Given the description of an element on the screen output the (x, y) to click on. 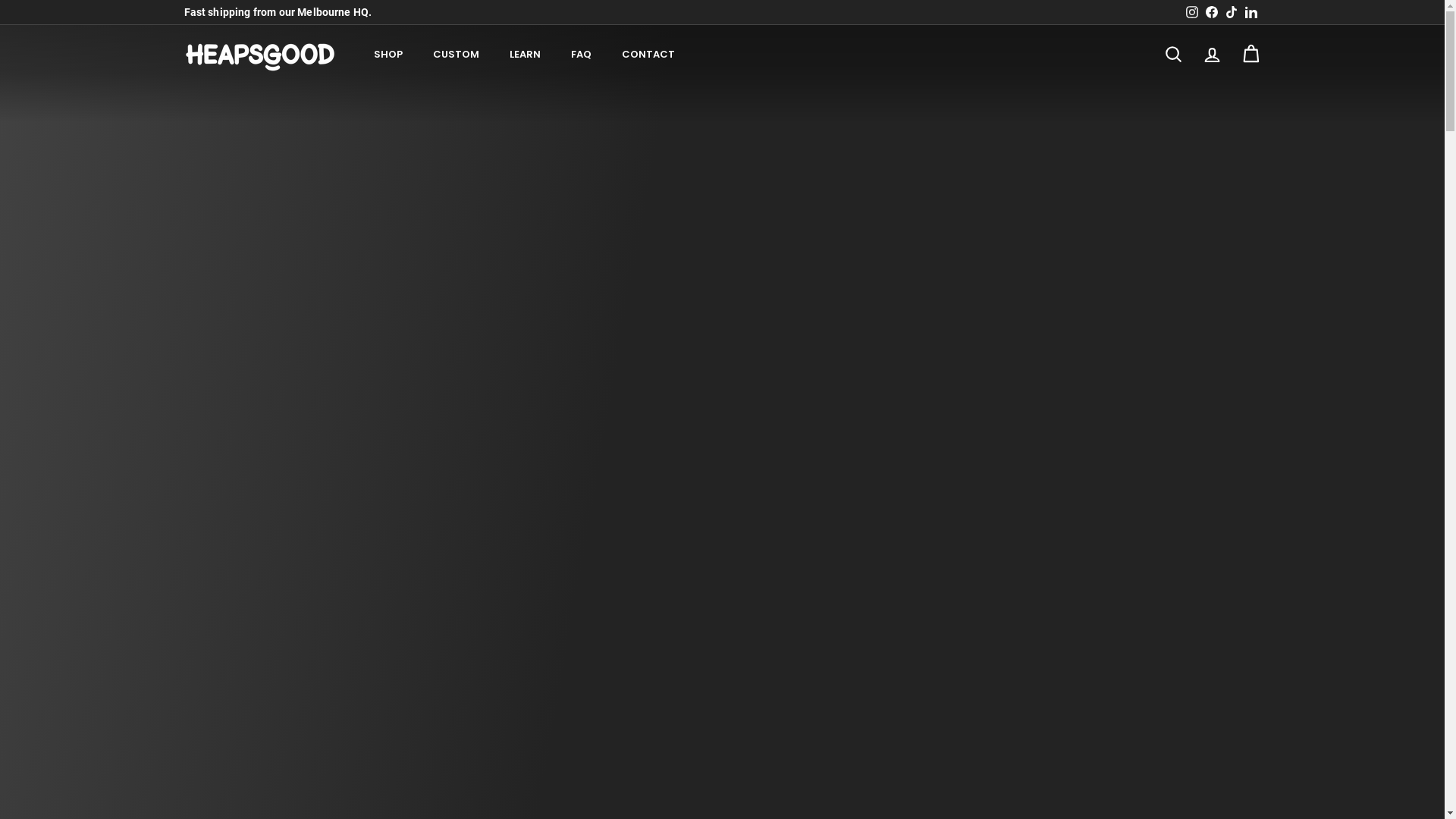
SEARCH Element type: text (1173, 53)
CONTACT Element type: text (648, 54)
Facebook Element type: text (1210, 11)
ACCOUNT Element type: text (1211, 53)
FAQ Element type: text (580, 54)
SHOP Element type: text (387, 54)
Instagram Element type: text (1191, 11)
TikTok Element type: text (1230, 11)
LEARN Element type: text (524, 54)
LinkedIn Element type: text (1250, 11)
CUSTOM Element type: text (455, 54)
